Given the description of an element on the screen output the (x, y) to click on. 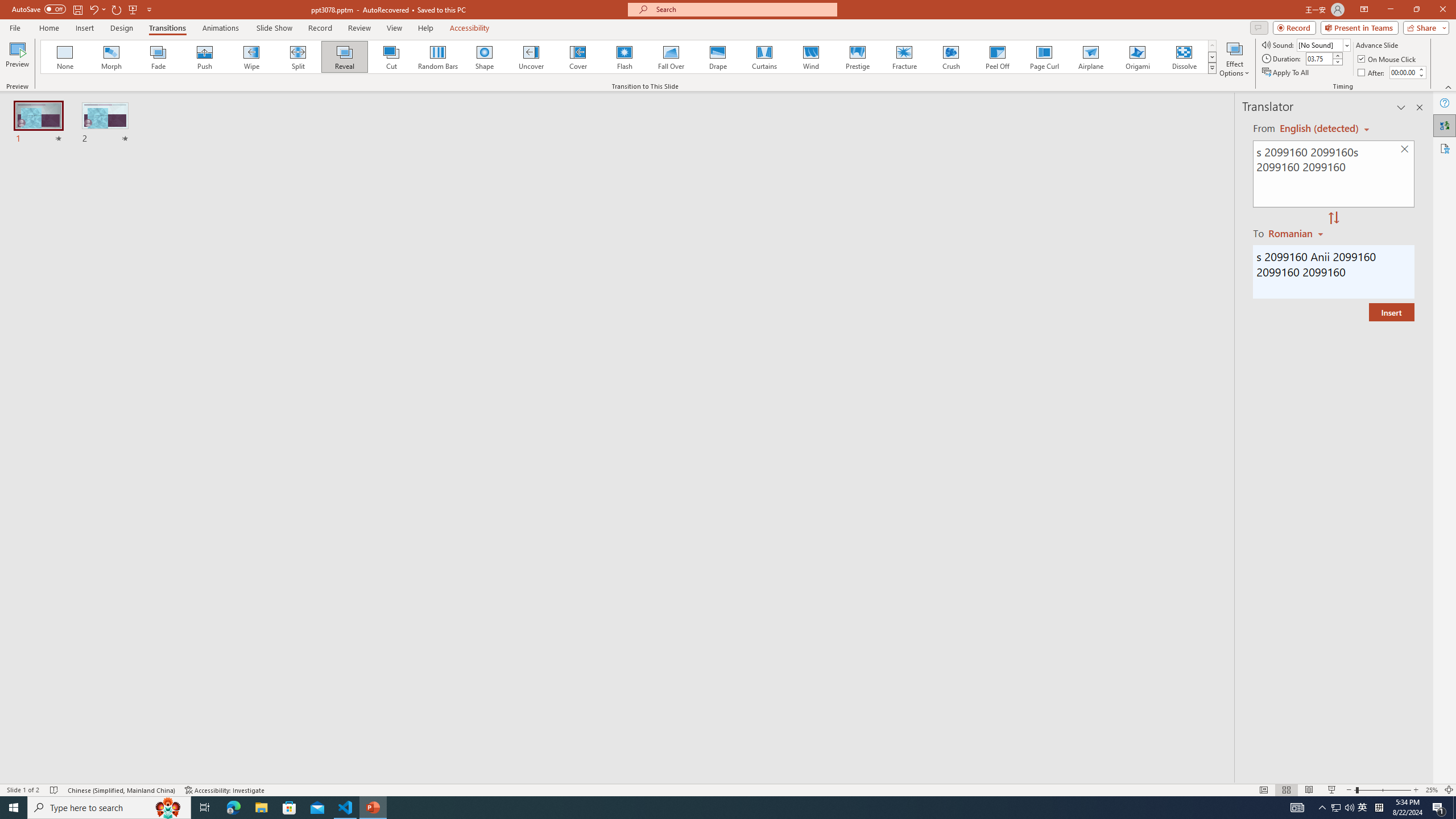
Apply To All (1286, 72)
Cover (577, 56)
Wind (810, 56)
After (1372, 72)
Flash (624, 56)
Reveal (344, 56)
Origami (1136, 56)
